Given the description of an element on the screen output the (x, y) to click on. 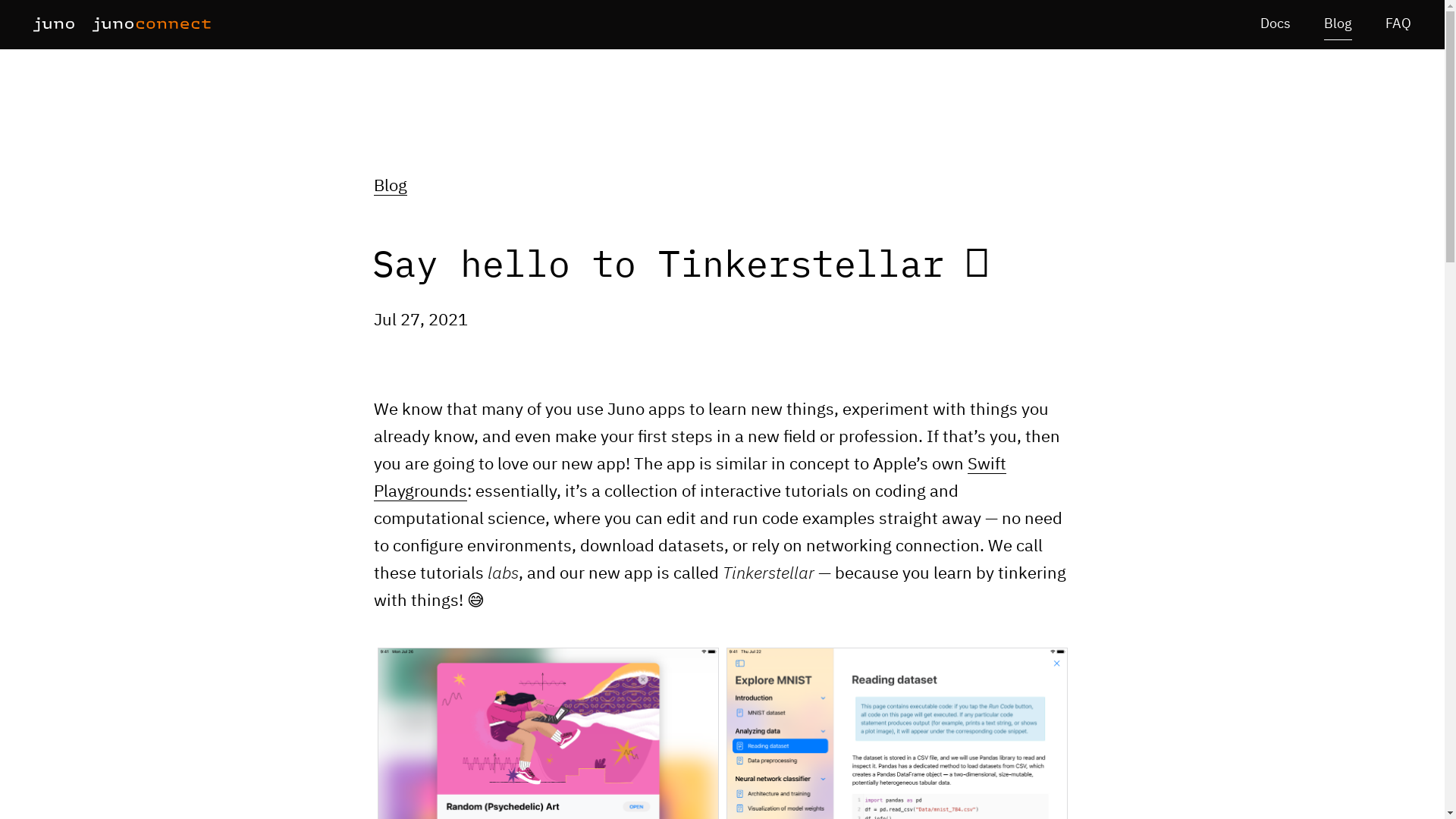
Blog (1337, 24)
Blog (389, 186)
Swift Playgrounds (689, 478)
Docs (1275, 24)
juno (53, 24)
FAQ (1398, 24)
juno connected (152, 24)
